Given the description of an element on the screen output the (x, y) to click on. 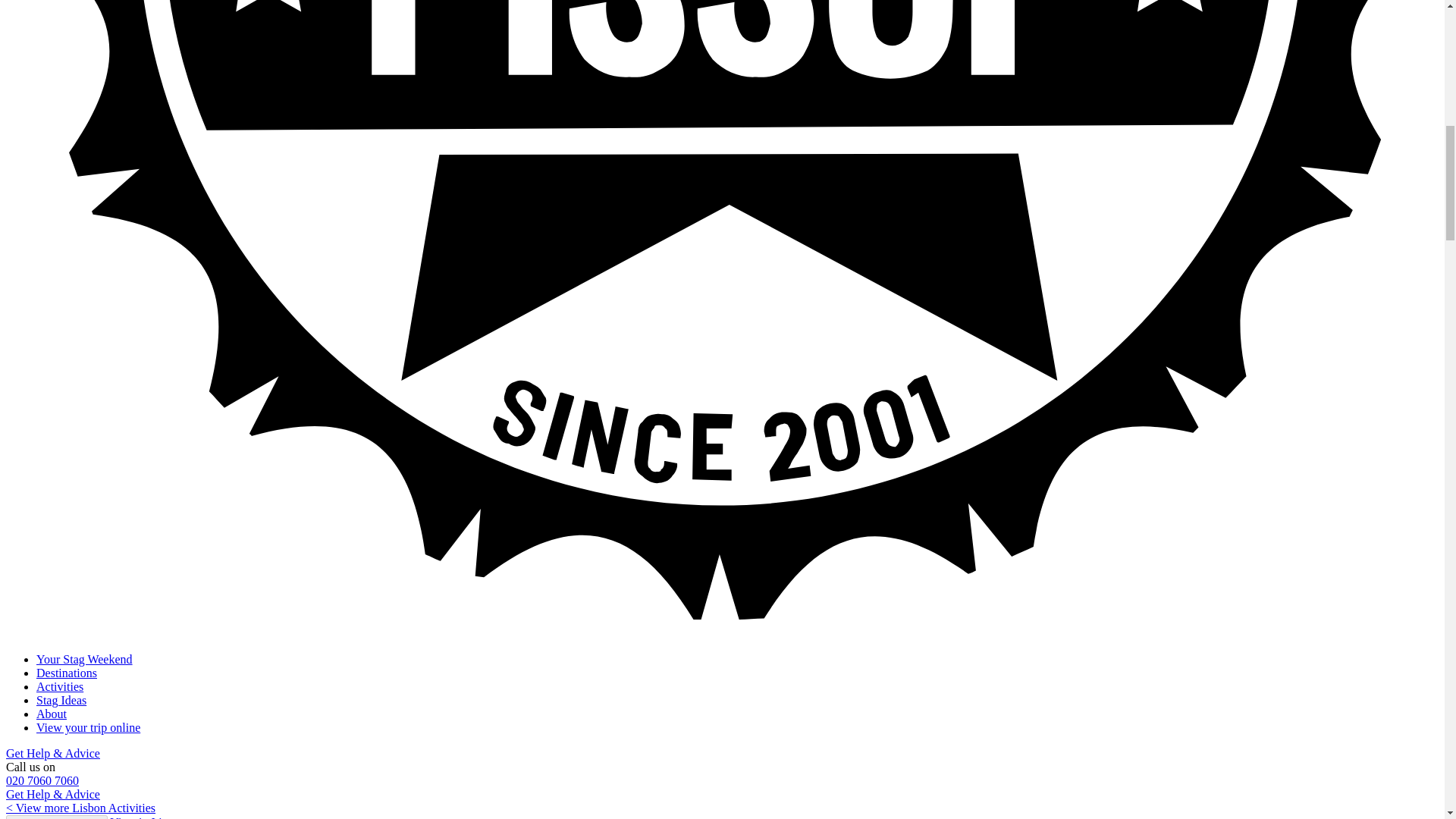
View in Itinerary (151, 817)
Activities (59, 686)
Add Activity To Stag (56, 816)
Destinations (66, 672)
About (51, 713)
Stag Ideas (60, 699)
Your Stag Weekend (84, 658)
View your trip online (87, 727)
020 7060 7060 (41, 780)
